Given the description of an element on the screen output the (x, y) to click on. 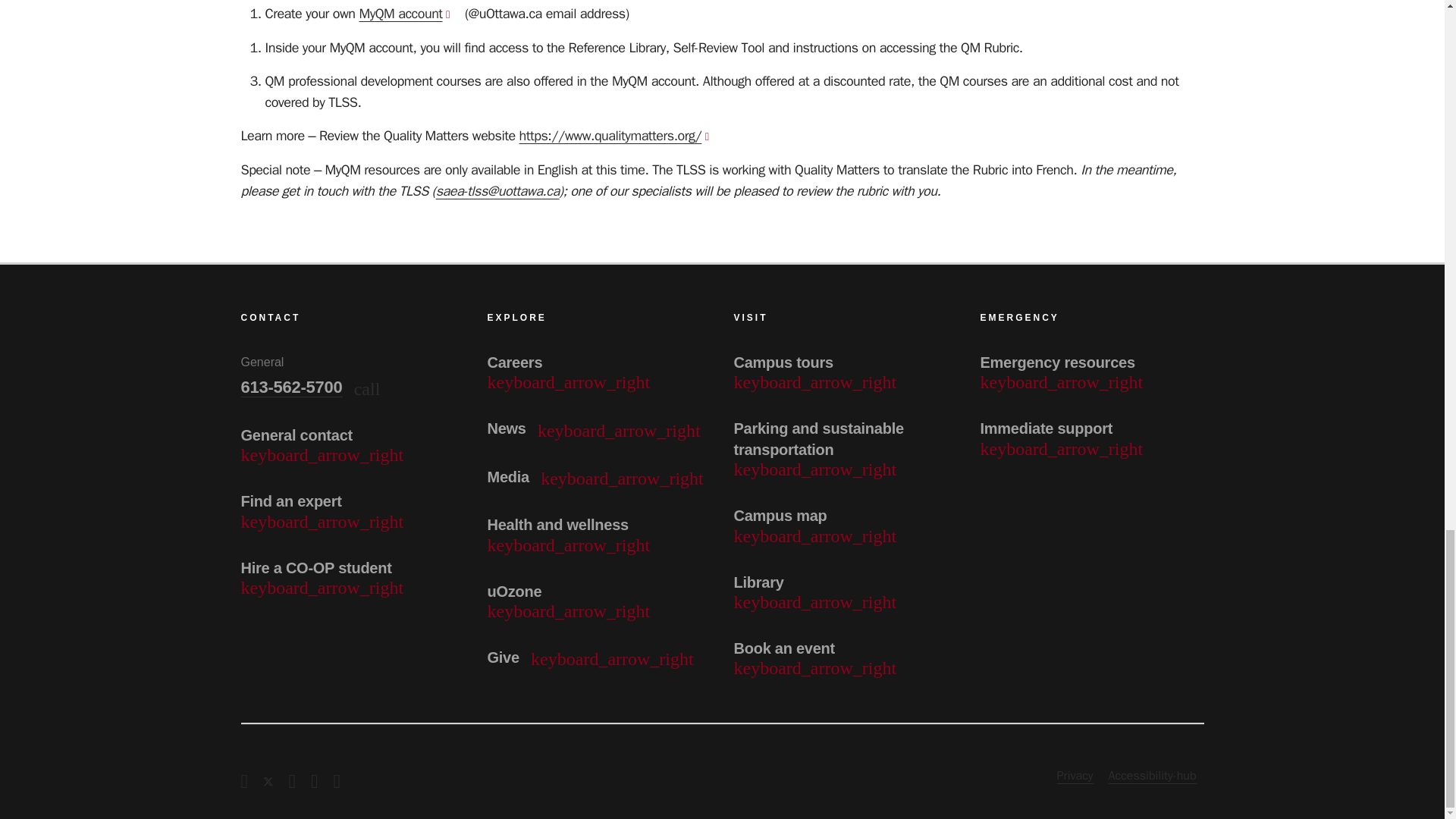
Link to Emergency resources  webpage (1091, 371)
Link to the TLSS consultation request form (497, 190)
Link to MyQM account creation page (409, 13)
Link to quality Matters website (619, 135)
